Given the description of an element on the screen output the (x, y) to click on. 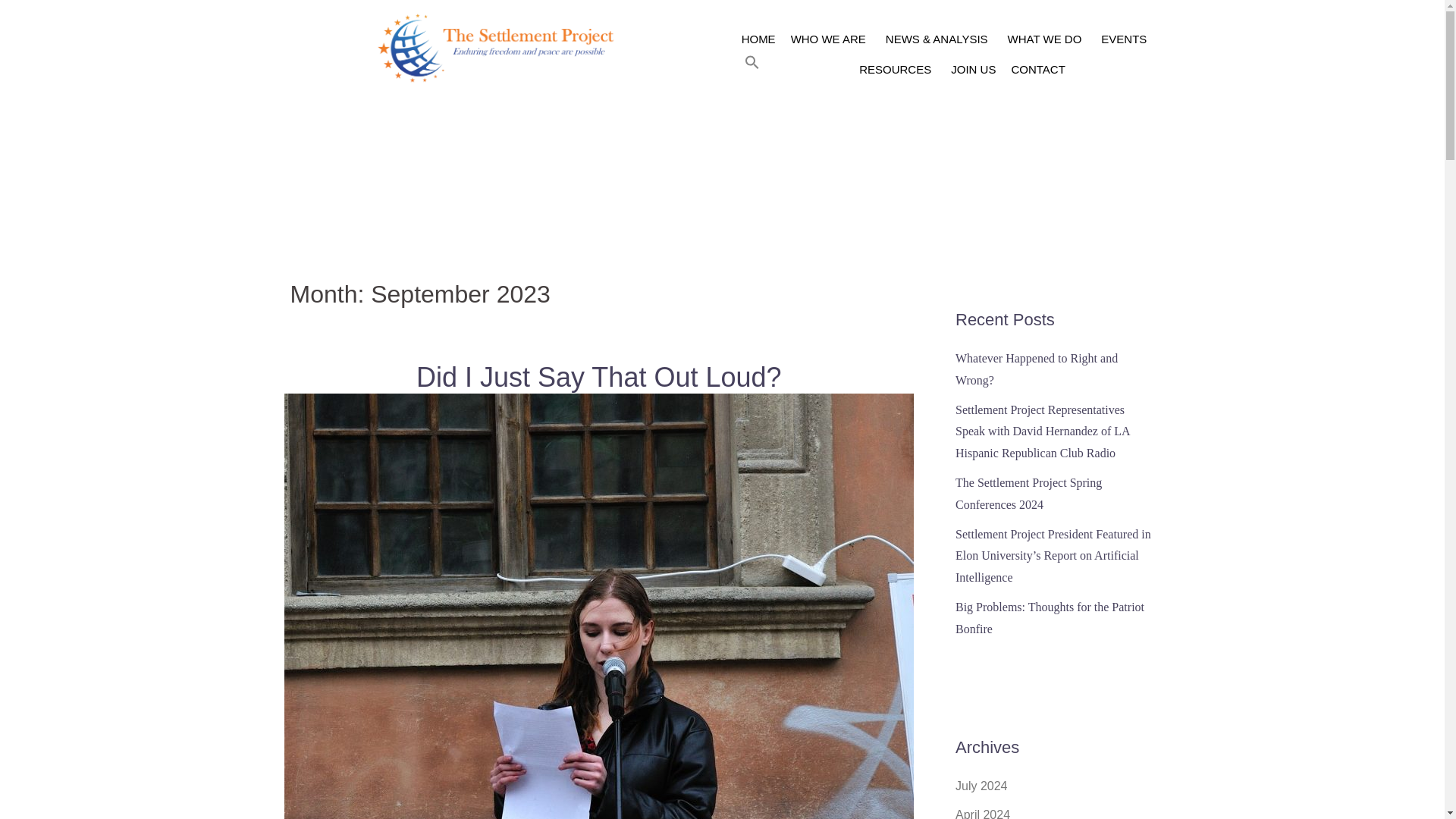
Did I Just Say That Out Loud? (598, 738)
WHAT WE DO (1047, 39)
WHO WE ARE (830, 39)
RESOURCES (897, 69)
HOME (758, 39)
EVENTS (1123, 39)
The Settlement Project (500, 47)
